Given the description of an element on the screen output the (x, y) to click on. 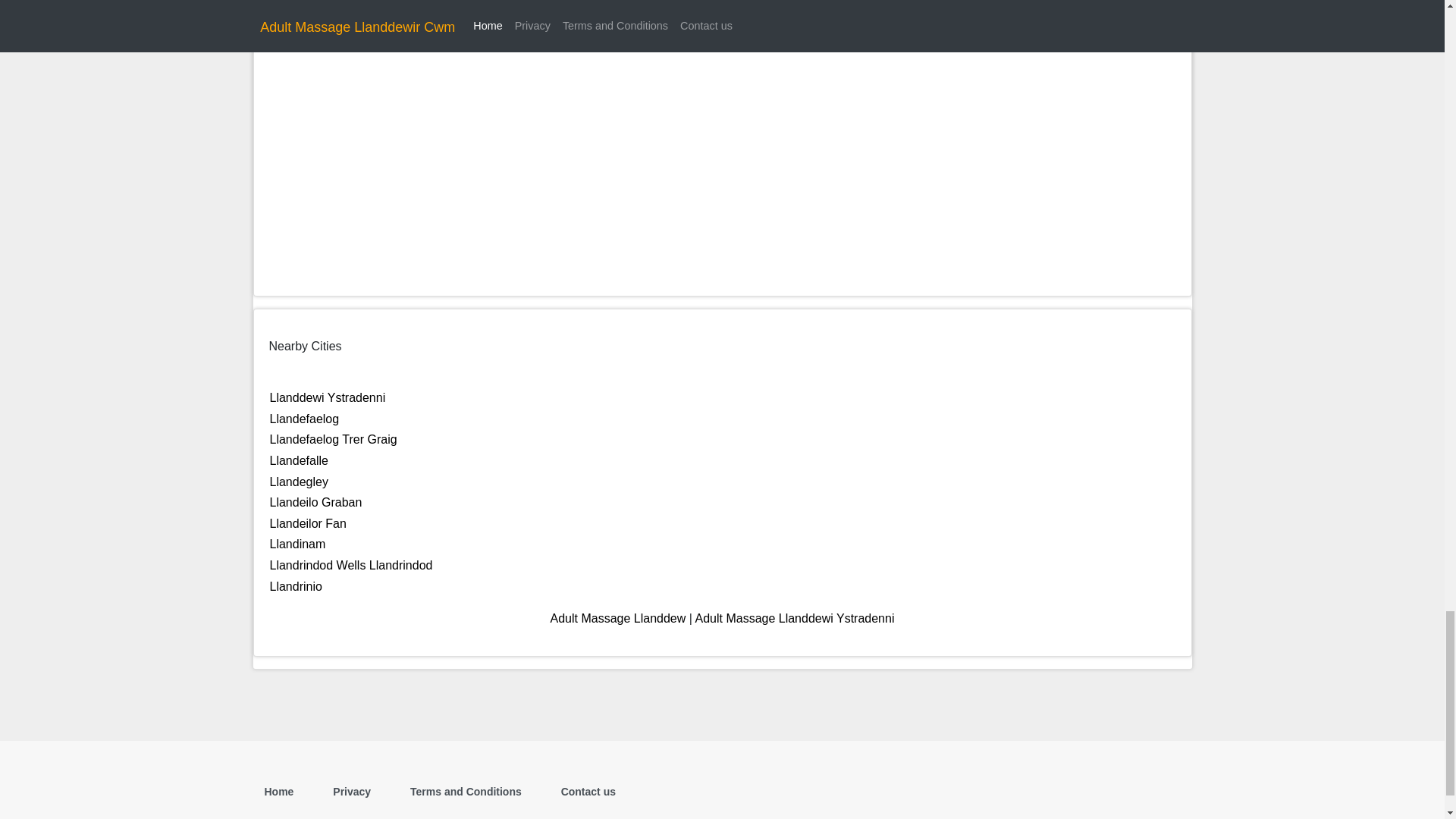
Llanddewi Ystradenni (327, 397)
Llandeilo Graban (315, 502)
Llandeilor Fan (307, 522)
Llandegley (299, 481)
Llandinam (297, 543)
Adult Massage Llanddew (617, 617)
Llandefaelog Trer Graig (333, 439)
Llandefaelog (304, 418)
Llandefalle (299, 460)
Adult Massage Llanddewi Ystradenni (793, 617)
Llandrindod Wells Llandrindod (350, 564)
Llandrinio (295, 585)
